Given the description of an element on the screen output the (x, y) to click on. 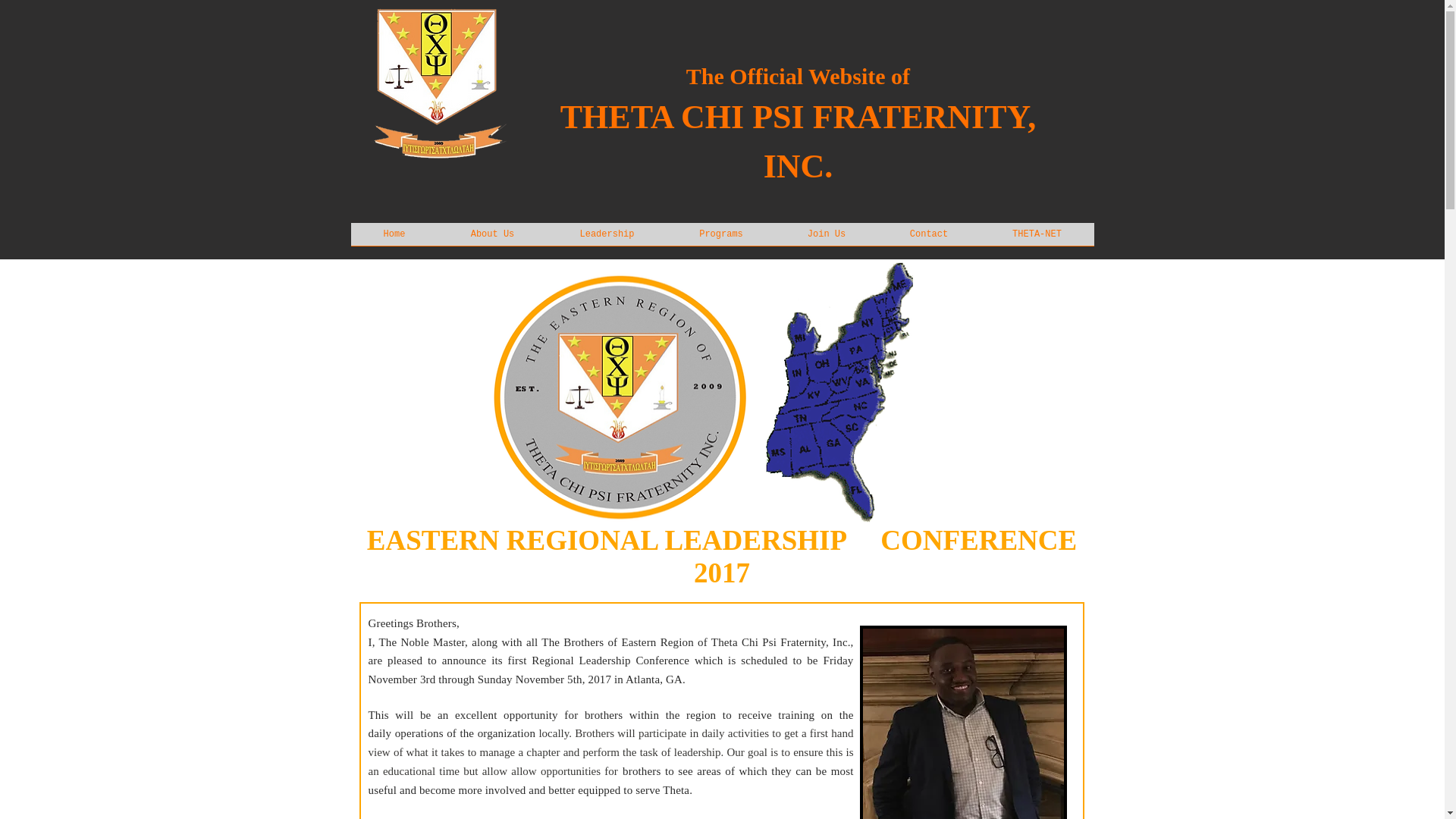
Programs (721, 238)
Home (394, 238)
shield 1.png (435, 81)
About Us (492, 238)
Leadership (606, 238)
Join Us (825, 238)
THETA-NET (1036, 238)
Contact (928, 238)
